Given the description of an element on the screen output the (x, y) to click on. 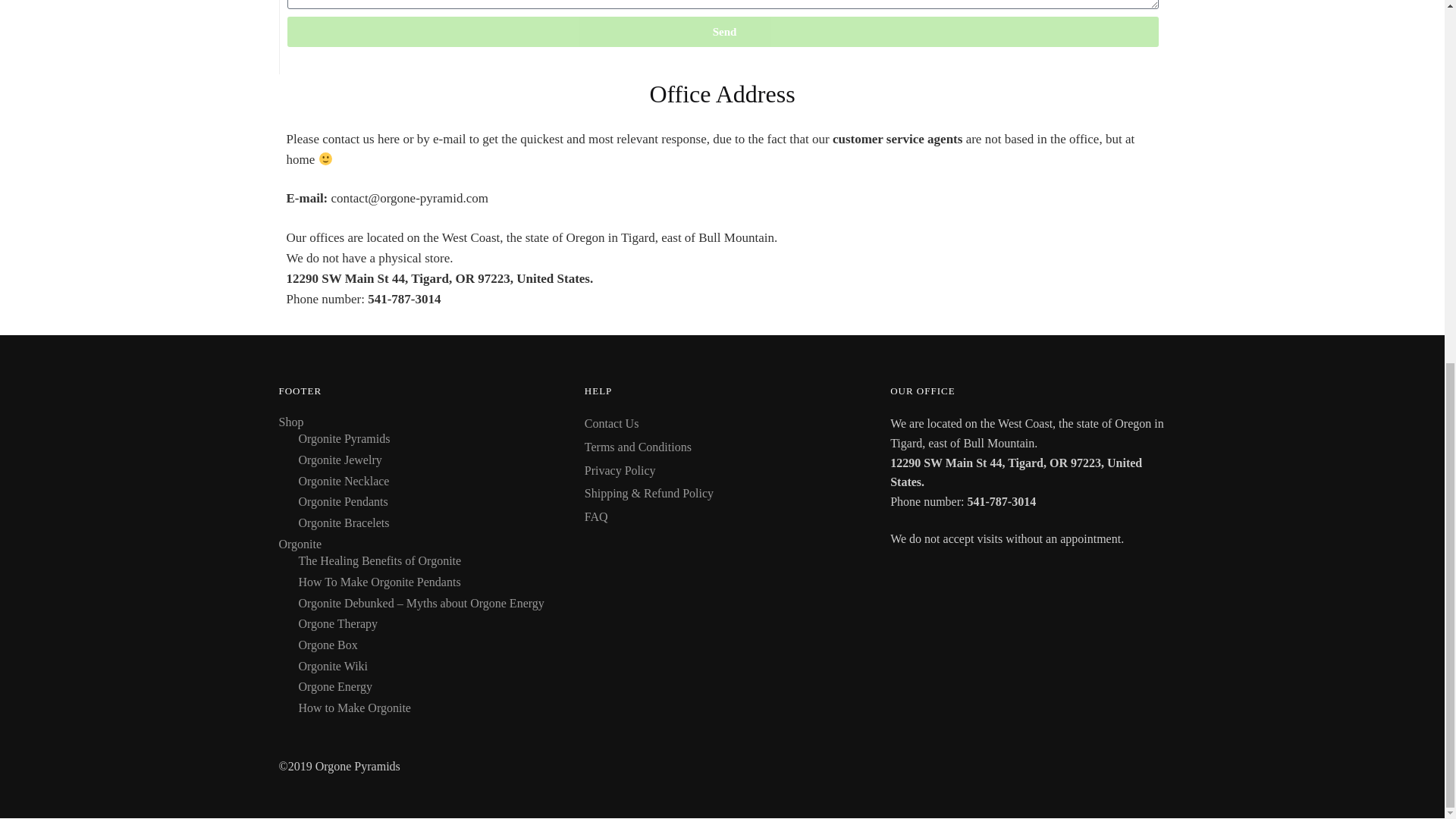
Orgonite Jewelry (339, 459)
The Healing Benefits of Orgonite (379, 560)
Orgonite Pyramids (344, 438)
Orgonite (300, 543)
Orgonite Pendants (342, 501)
Send (721, 31)
Orgonite Necklace (343, 481)
Orgonite Bracelets (343, 522)
Shop (291, 421)
